Given the description of an element on the screen output the (x, y) to click on. 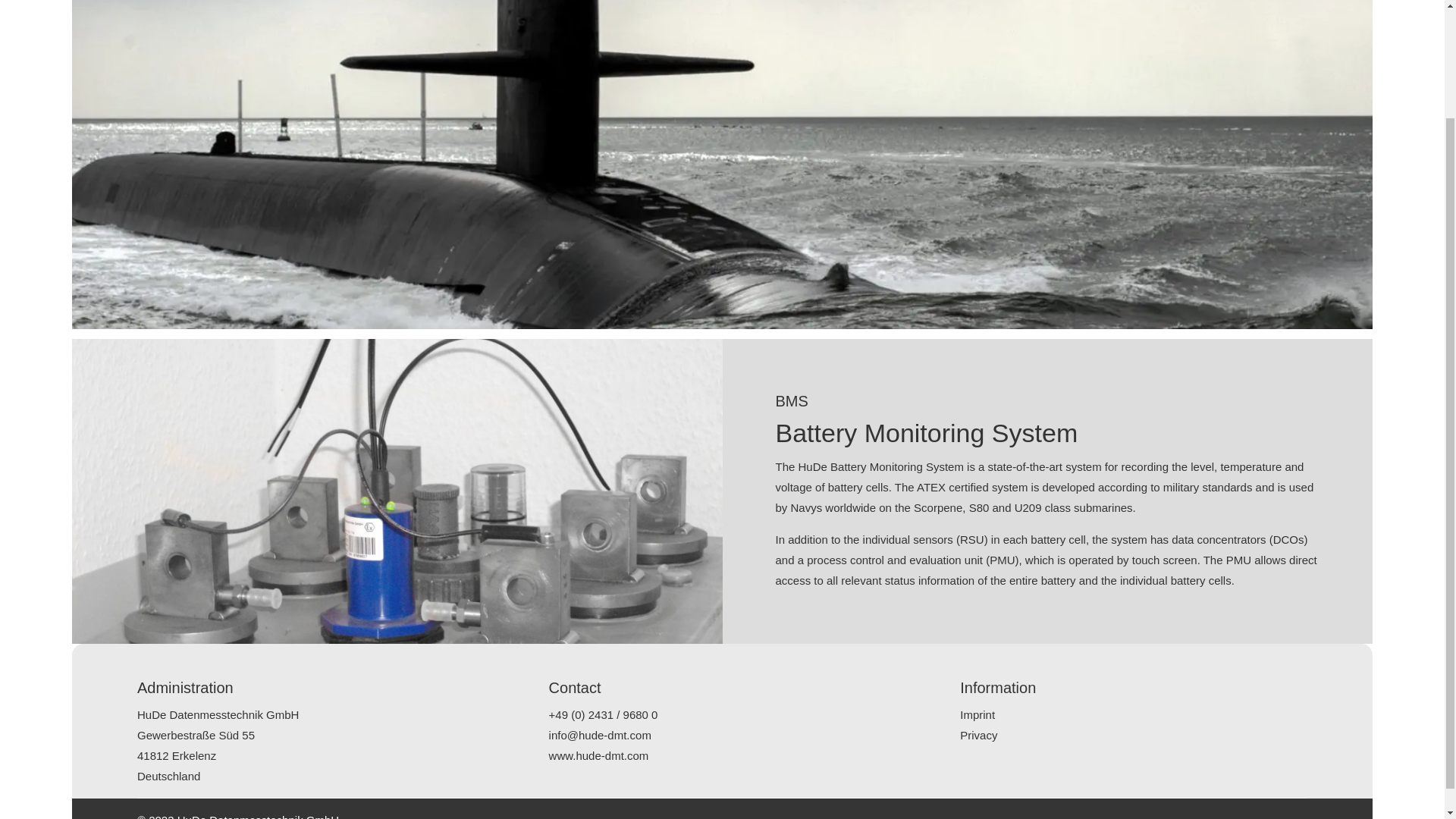
www.hude-dmt.com (598, 755)
Imprint (976, 714)
Privacy (978, 735)
